Given the description of an element on the screen output the (x, y) to click on. 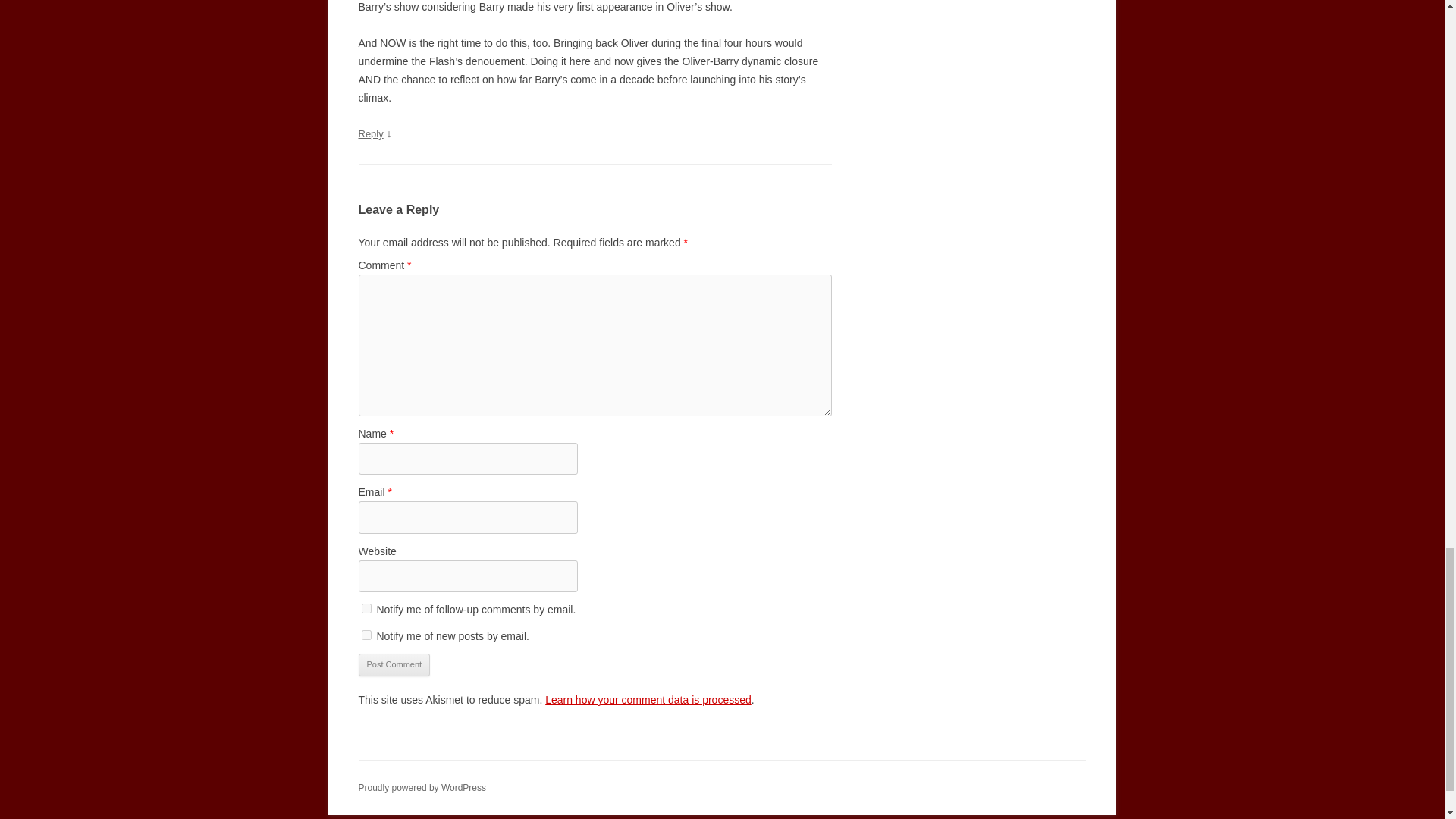
Post Comment (393, 664)
subscribe (366, 608)
subscribe (366, 634)
Post Comment (393, 664)
Reply (370, 133)
Learn how your comment data is processed (647, 699)
